Given the description of an element on the screen output the (x, y) to click on. 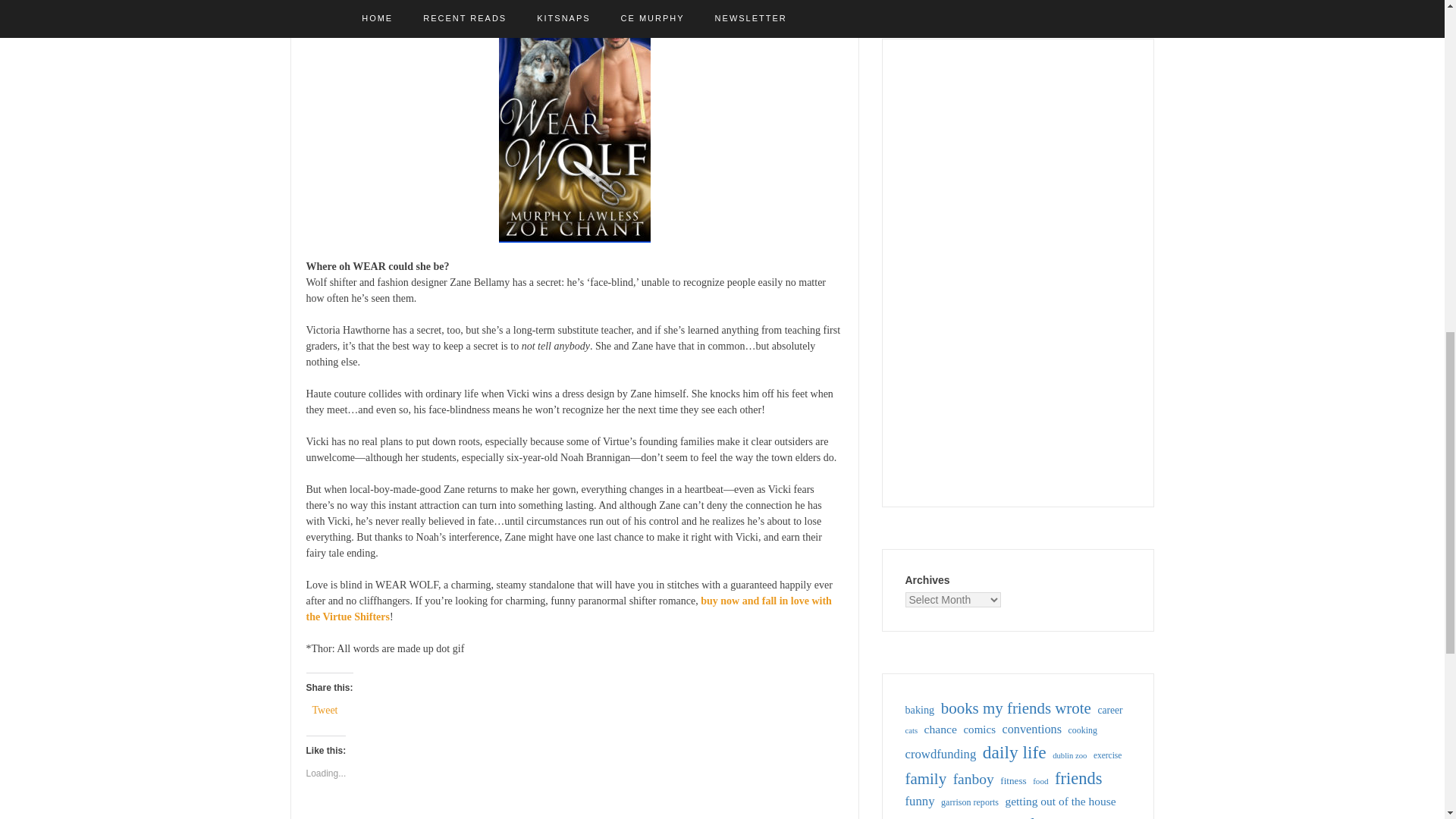
cats (911, 730)
haus (916, 818)
conventions (1032, 729)
funny (919, 800)
food (1040, 780)
books my friends wrote (1015, 708)
cooking (1082, 730)
career (1109, 710)
family (926, 779)
buy now and fall in love with the Virtue Shifters (568, 608)
